Given the description of an element on the screen output the (x, y) to click on. 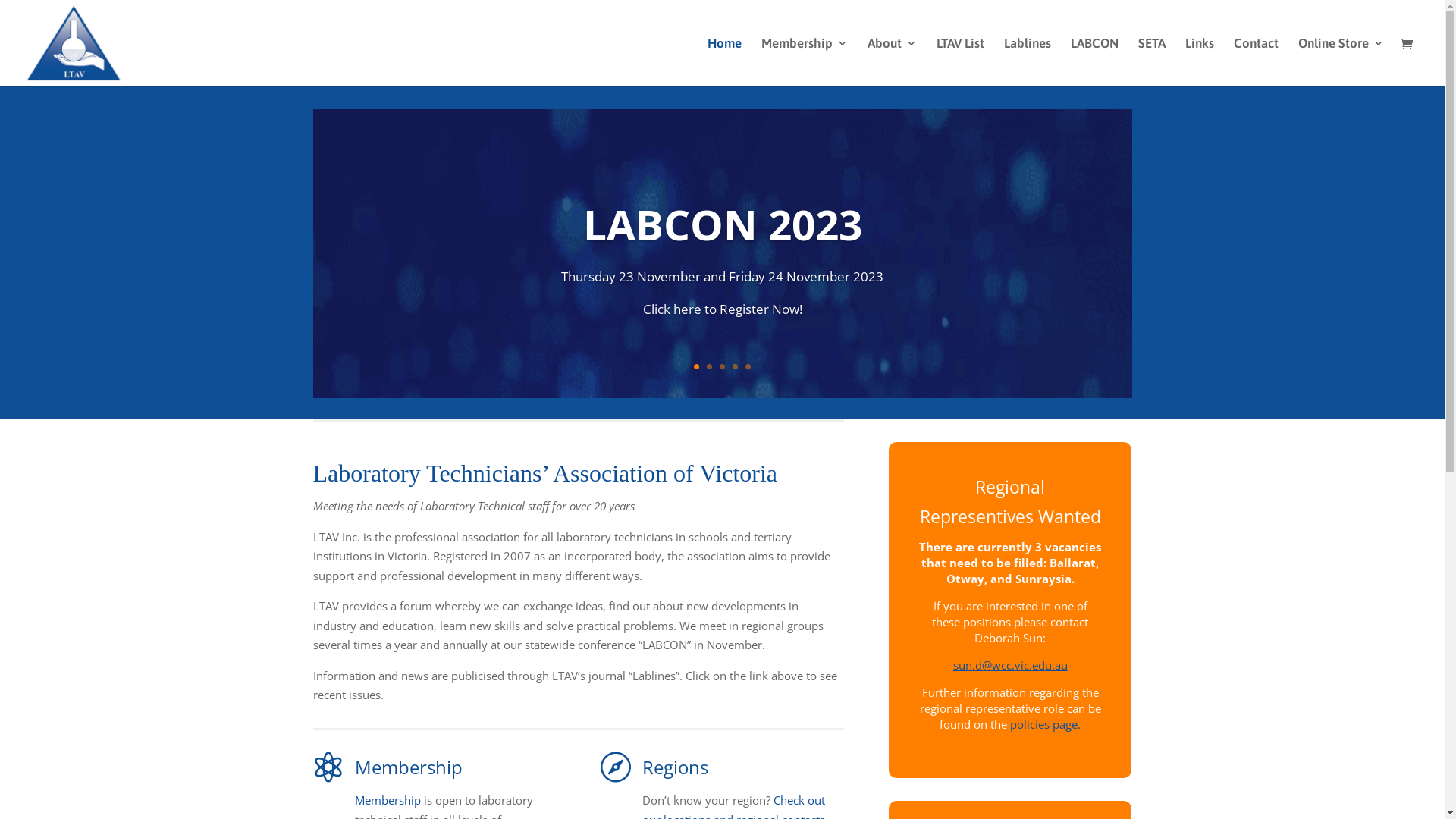
LABCON Element type: text (1094, 61)
2 Element type: text (709, 366)
Online Store Element type: text (1340, 61)
Lablines Element type: text (1027, 61)
4 Element type: text (734, 366)
Membership Element type: text (804, 61)
1 Element type: text (696, 366)
SETA Element type: text (1151, 61)
5 Element type: text (747, 366)
Contact Element type: text (1255, 61)
policies page. Element type: text (1045, 723)
3 Element type: text (721, 366)
Home Element type: text (724, 61)
About Element type: text (891, 61)
sun.d@wcc.vic.edu.au Element type: text (1010, 664)
Membership Element type: text (387, 799)
Links Element type: text (1199, 61)
LTAV List Element type: text (960, 61)
